Given the description of an element on the screen output the (x, y) to click on. 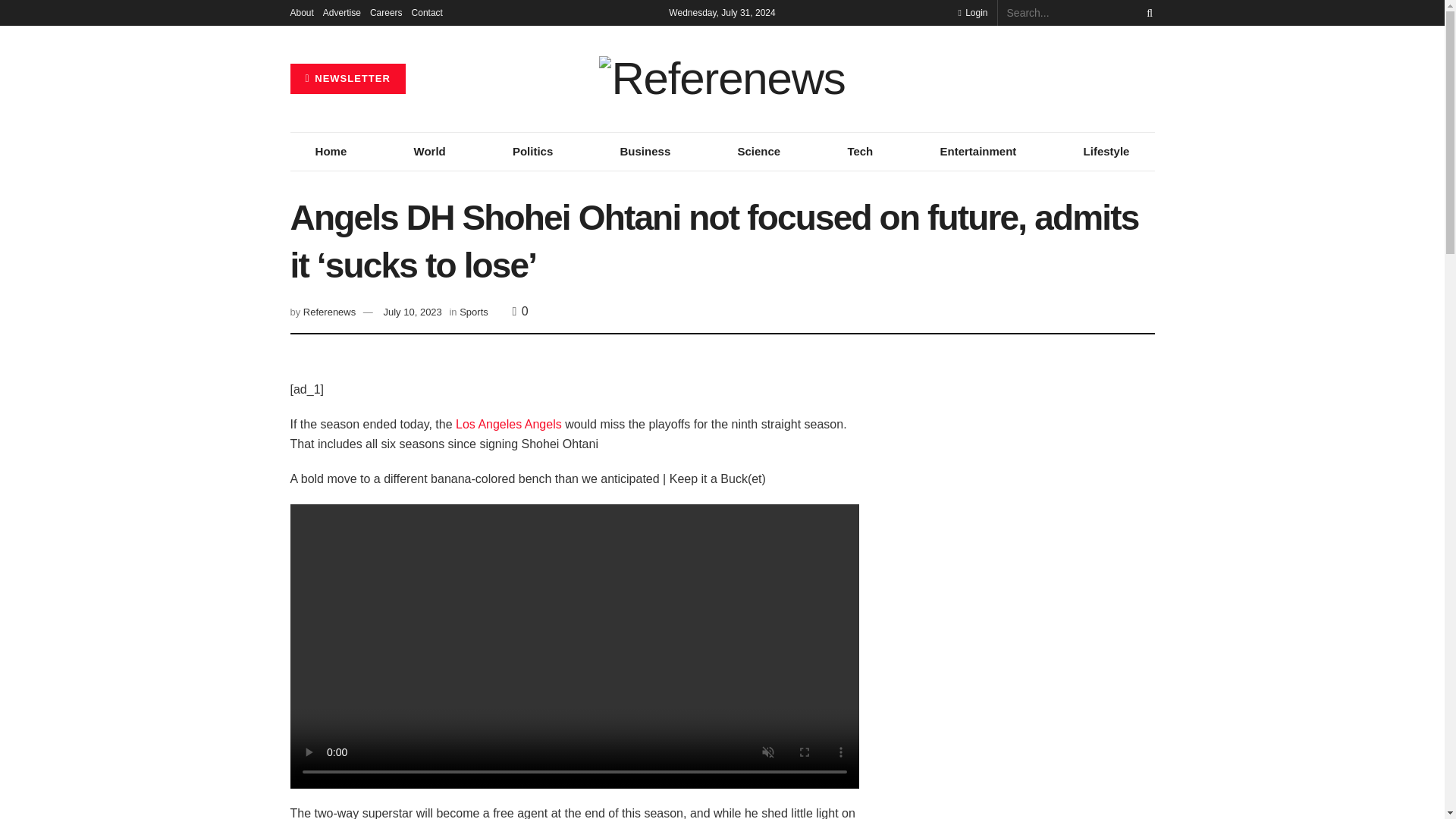
Contact (427, 12)
Tech (860, 151)
Advertise (342, 12)
Politics (532, 151)
Login (972, 12)
Entertainment (977, 151)
Science (758, 151)
Business (644, 151)
About (301, 12)
NEWSLETTER (346, 78)
Careers (386, 12)
World (429, 151)
Home (330, 151)
